Given the description of an element on the screen output the (x, y) to click on. 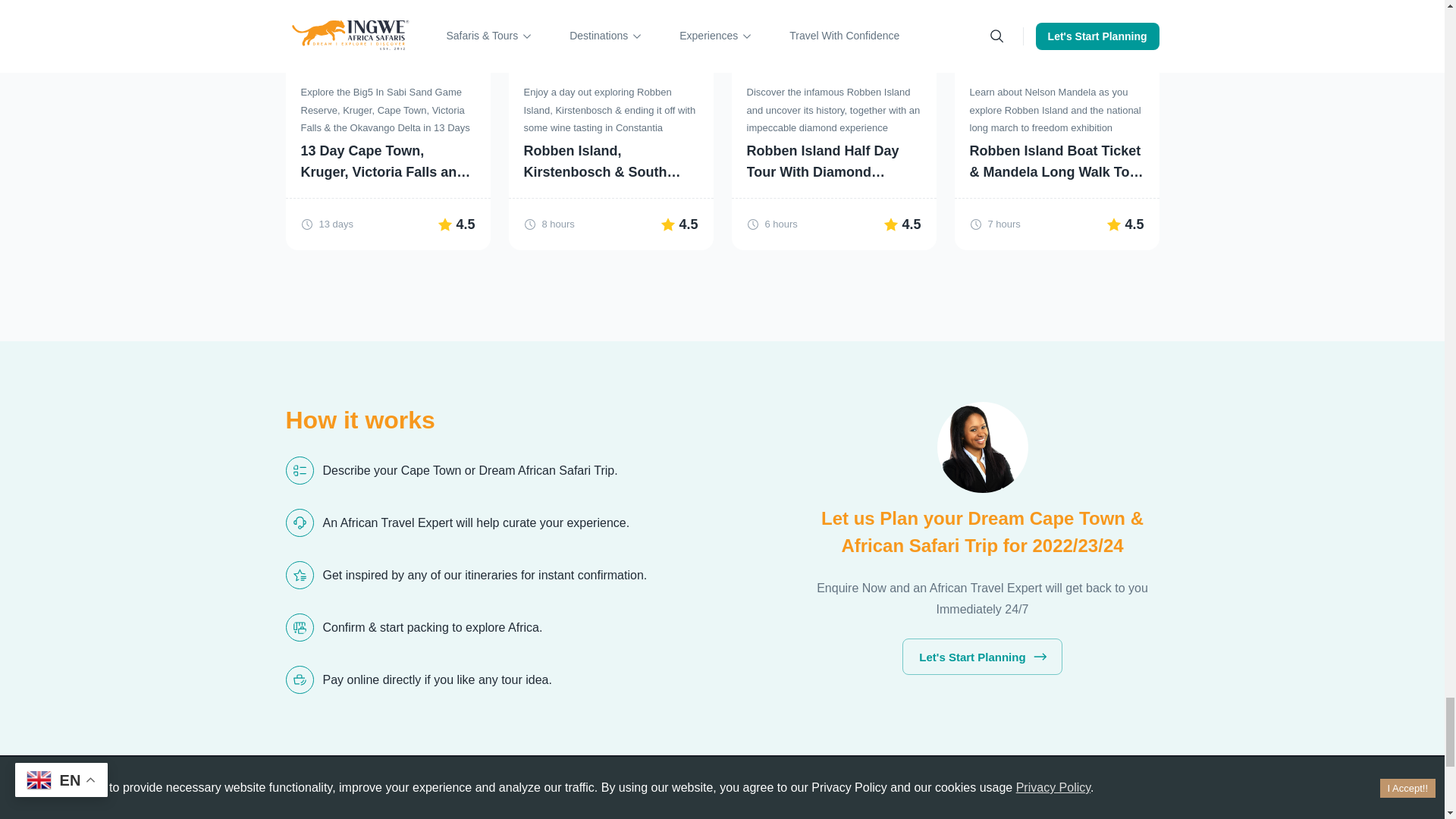
Robben Island Half Day Tour With Diamond Museum Experience (832, 161)
13 Day Cape Town, Kruger, Victoria Falls and Botswana Tour (386, 161)
Let'S Start Planning (981, 656)
